Given the description of an element on the screen output the (x, y) to click on. 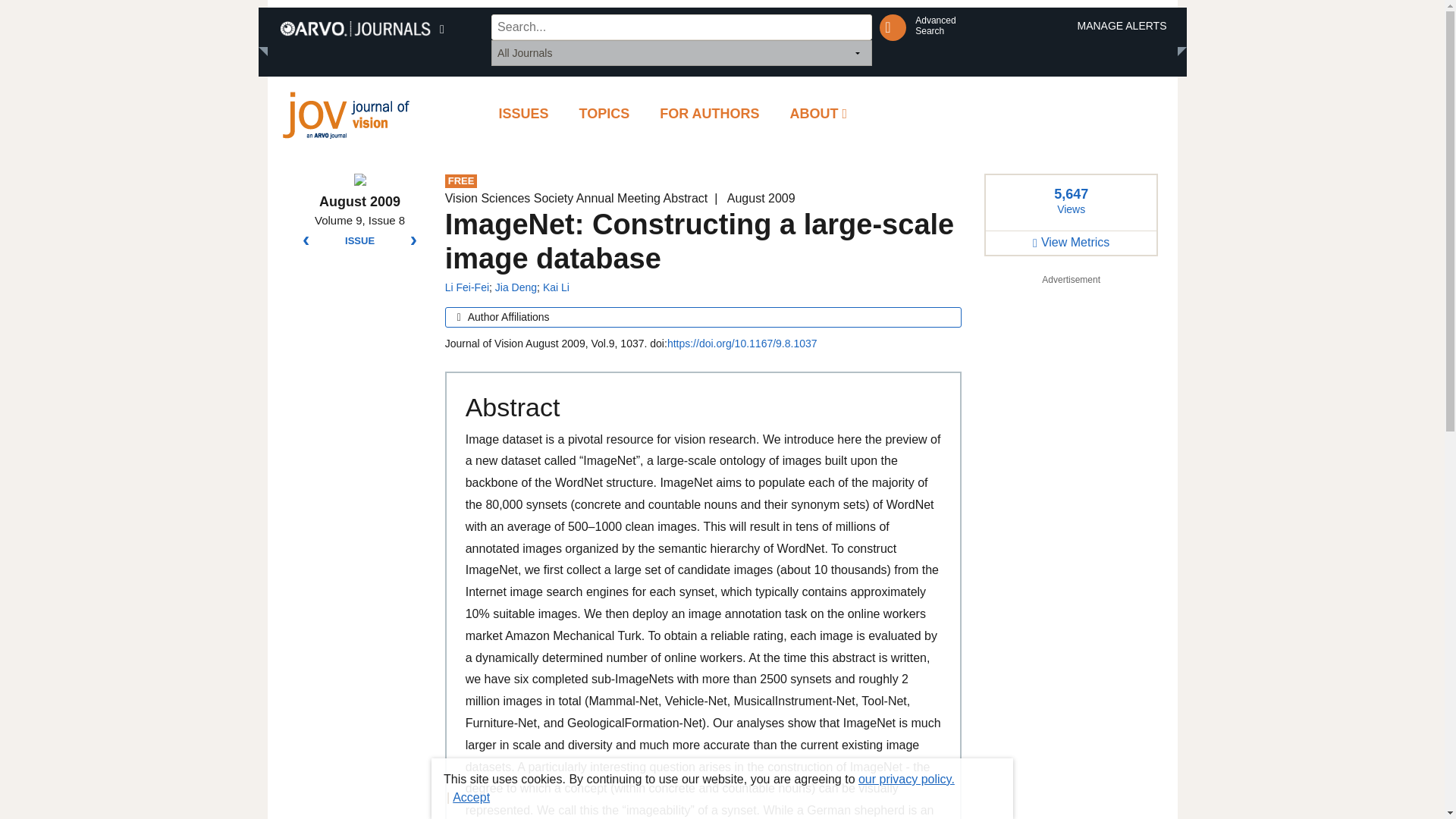
ISSUE (359, 241)
FOR AUTHORS (709, 114)
ISSUES (523, 114)
ABOUT (935, 25)
TOPICS (818, 114)
Kai Li (604, 114)
Li Fei-Fei (556, 287)
Jia Deng (467, 287)
